Given the description of an element on the screen output the (x, y) to click on. 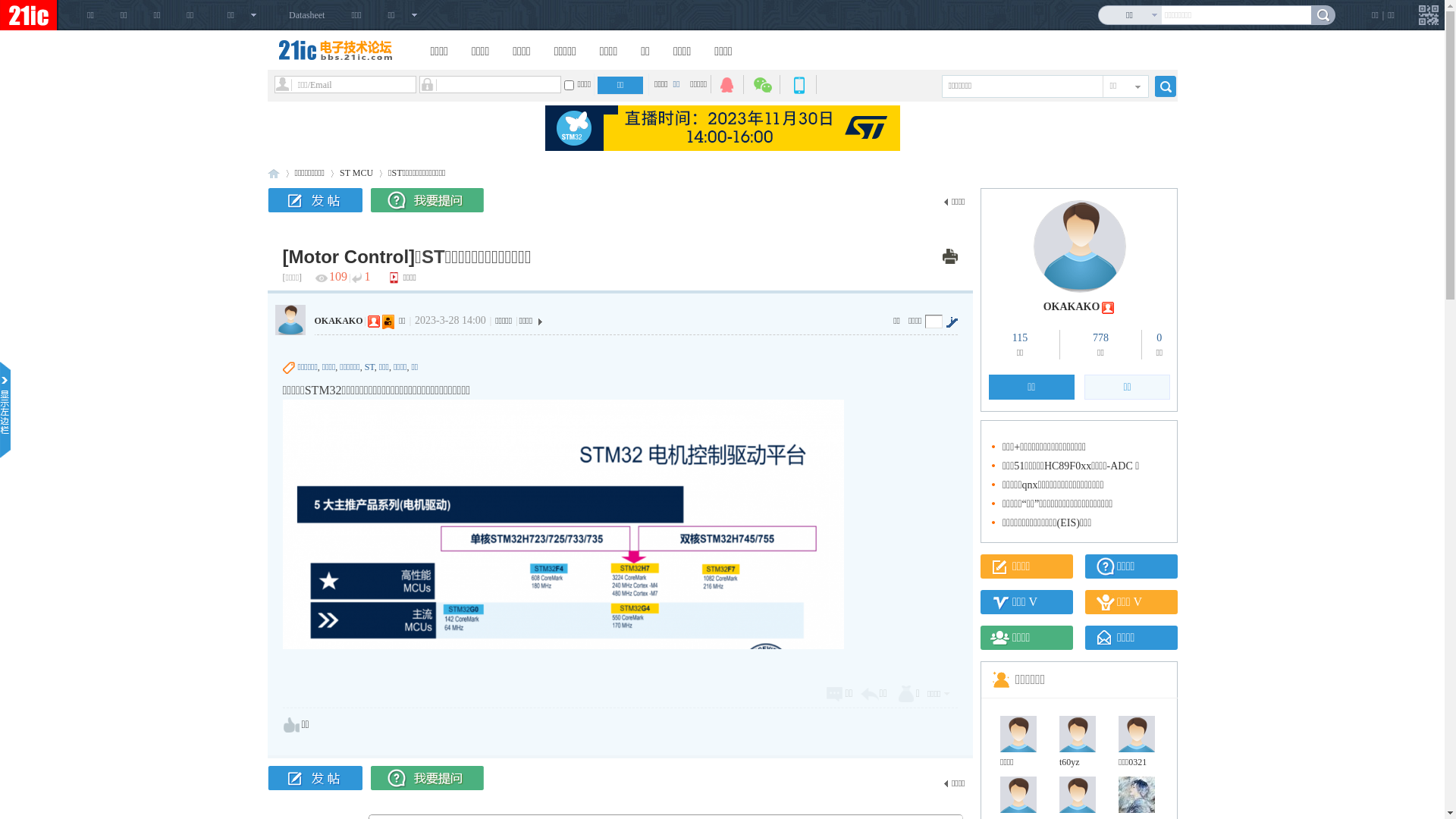
Datasheet Element type: text (306, 14)
[Motor Control] Element type: text (348, 256)
OKAKAKO Element type: text (337, 320)
OKAKAKO Element type: text (1071, 306)
ST MCU Element type: text (356, 173)
ST Element type: text (369, 366)
